Given the description of an element on the screen output the (x, y) to click on. 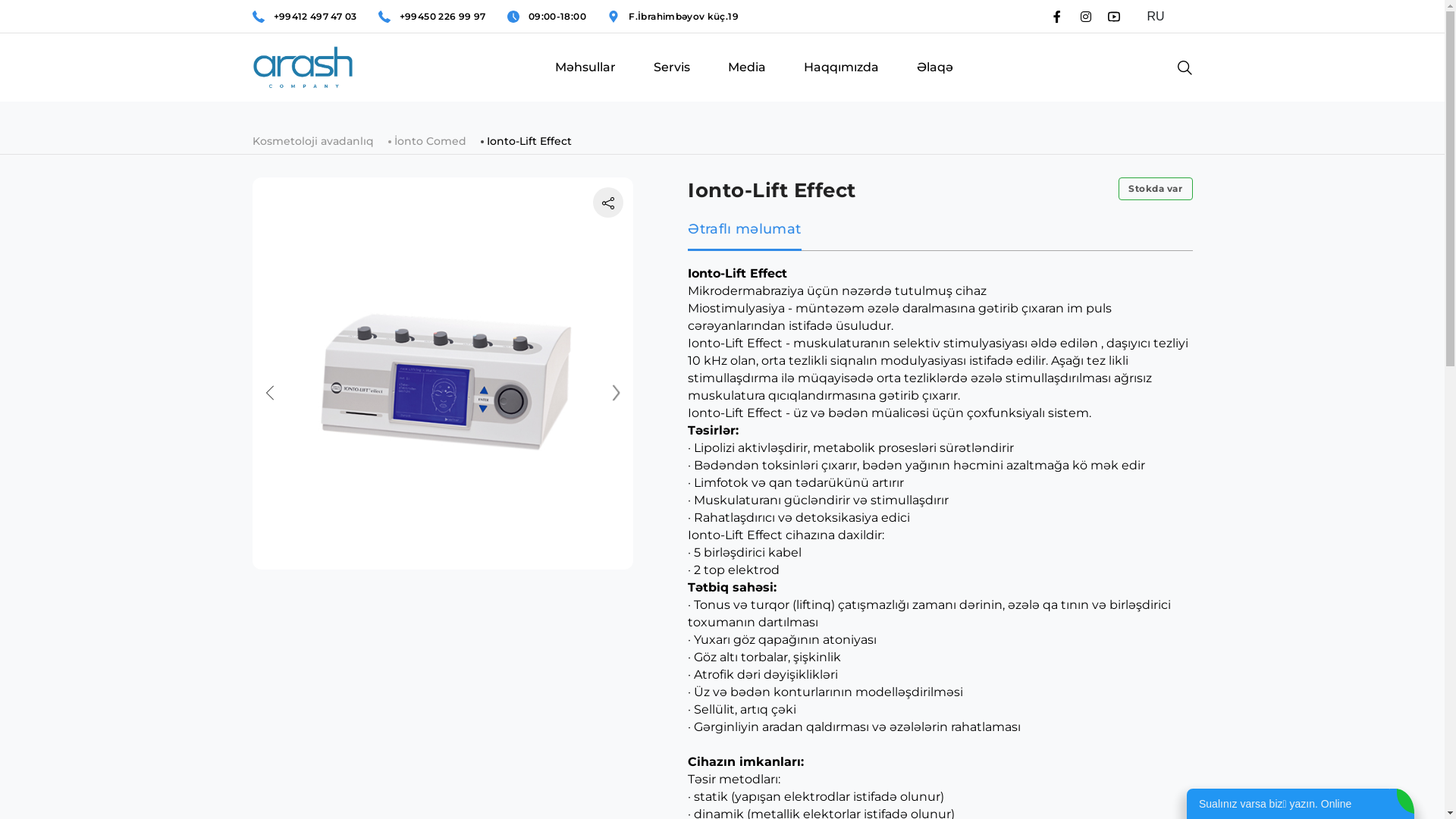
+99412 497 47 03 Element type: text (314, 16)
Ionto-Lift Effect Element type: text (528, 140)
Servis Element type: text (671, 81)
+99450 226 99 97 Element type: text (442, 16)
09:00-18:00 Element type: text (557, 16)
RU Element type: text (1163, 16)
Media Element type: text (746, 81)
